Given the description of an element on the screen output the (x, y) to click on. 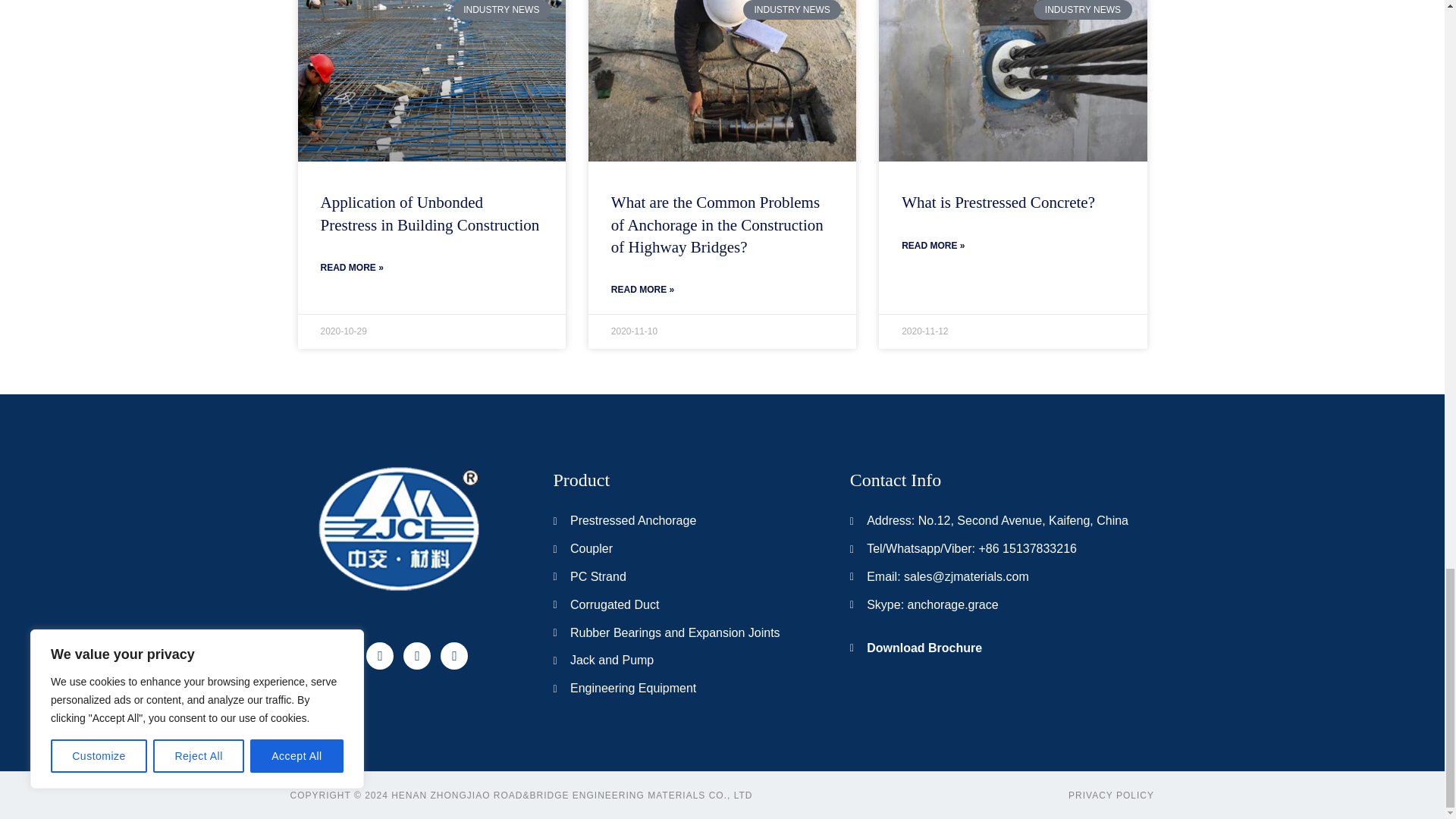
Application of Unbonded Prestress in Building Construction (429, 213)
